Given the description of an element on the screen output the (x, y) to click on. 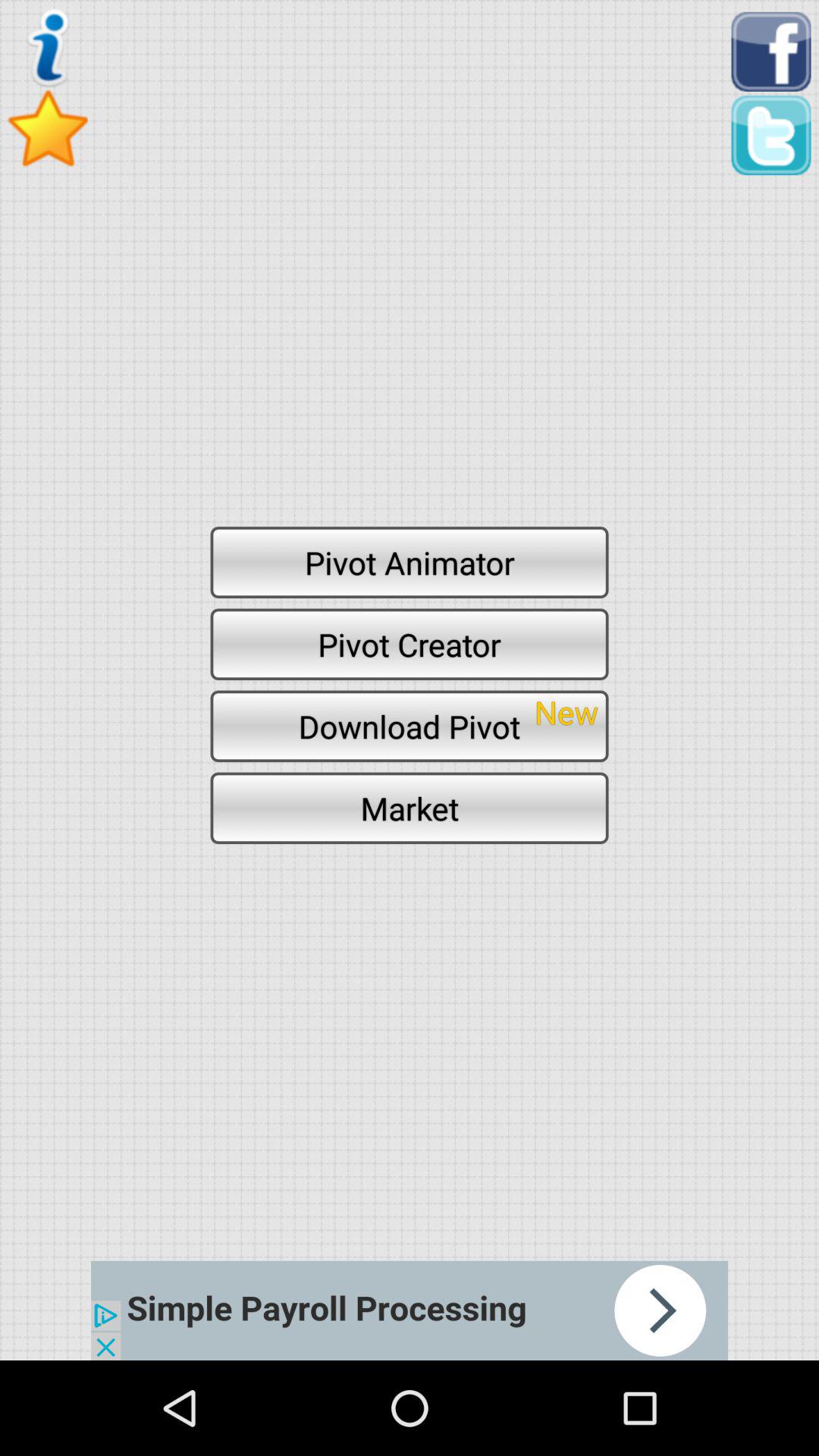
turn off button above download pivot item (409, 644)
